Given the description of an element on the screen output the (x, y) to click on. 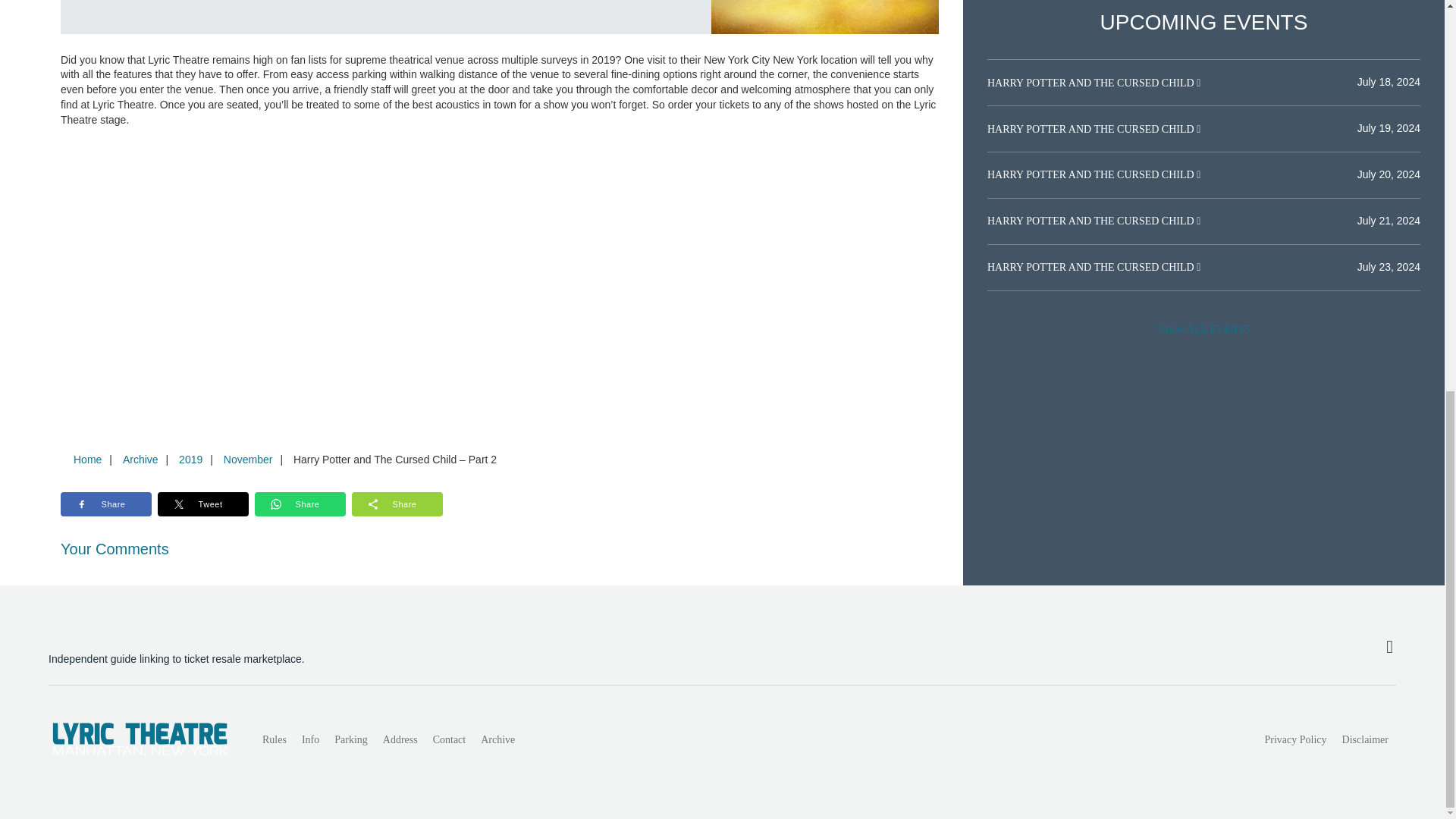
Archive (497, 739)
Archive (140, 459)
Rules (274, 739)
Disclaimer (1365, 739)
Address (400, 739)
November (248, 459)
Privacy Policy (1296, 739)
Harry Potter and The Cursed Child - Part 2 at Lyric Theatre (825, 16)
2019 (190, 459)
VIEW ALL EVENTS (1203, 329)
Parking (350, 739)
Info (310, 739)
Contact (449, 739)
Home (87, 459)
